Given the description of an element on the screen output the (x, y) to click on. 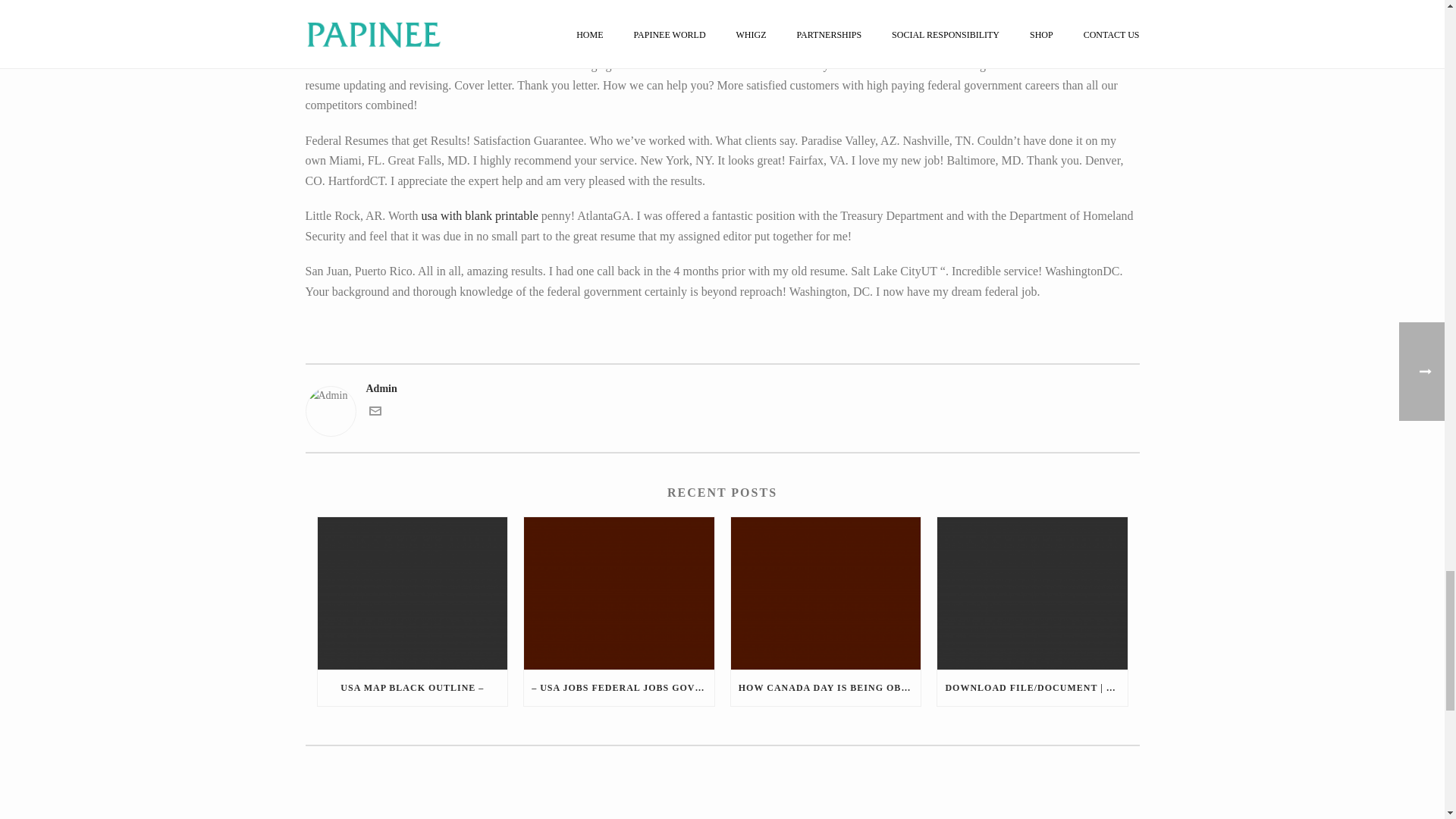
usa with blank printable (480, 215)
Get in touch with me via email (374, 413)
Admin (721, 388)
